Given the description of an element on the screen output the (x, y) to click on. 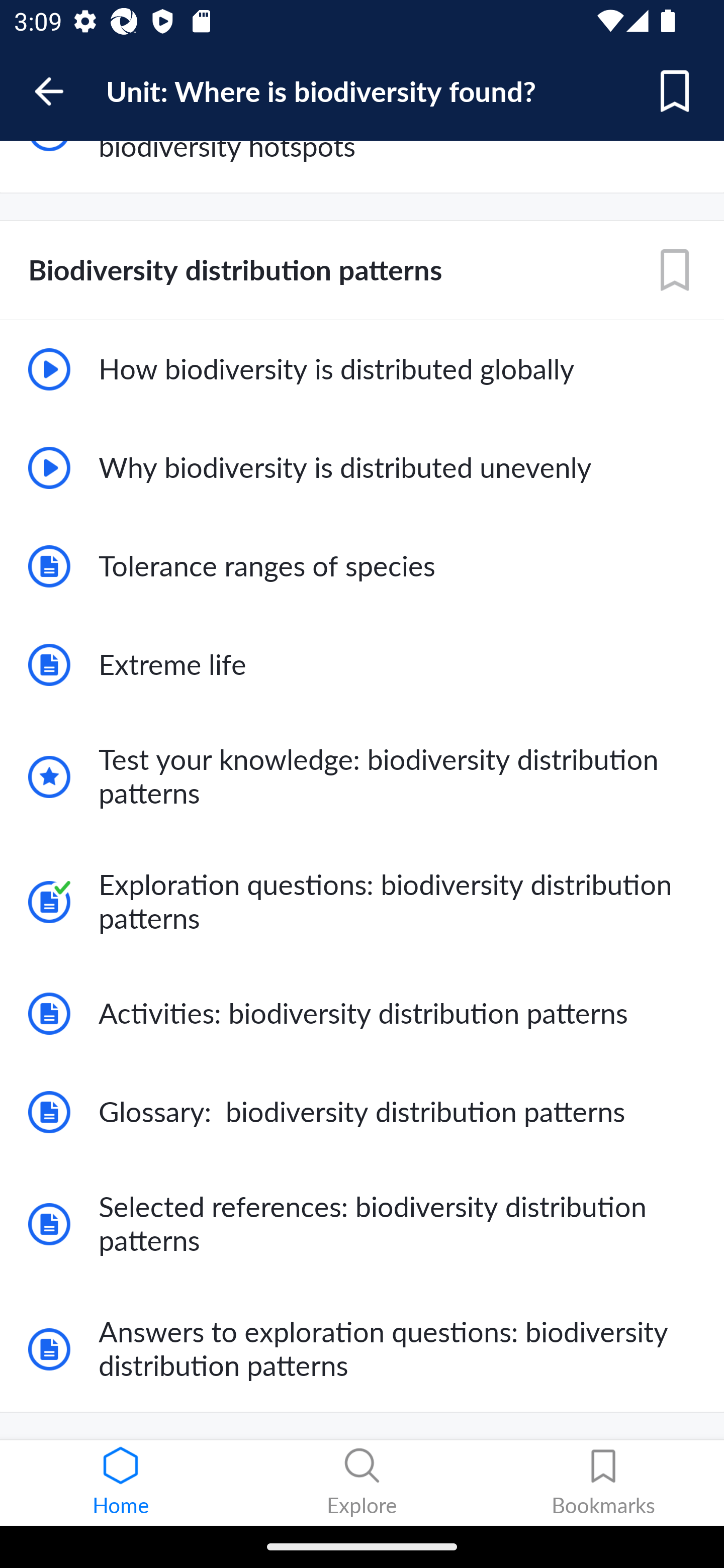
Back (58, 91)
Add Bookmark (674, 91)
Add Bookmark (674, 270)
How biodiversity is distributed globally (362, 368)
Why biodiversity is distributed unevenly (362, 467)
Tolerance ranges of species (362, 566)
Extreme life (362, 664)
Activities: biodiversity distribution patterns (362, 1013)
Glossary:  biodiversity distribution patterns (362, 1112)
Home (120, 1482)
Explore (361, 1482)
Bookmarks (603, 1482)
